Given the description of an element on the screen output the (x, y) to click on. 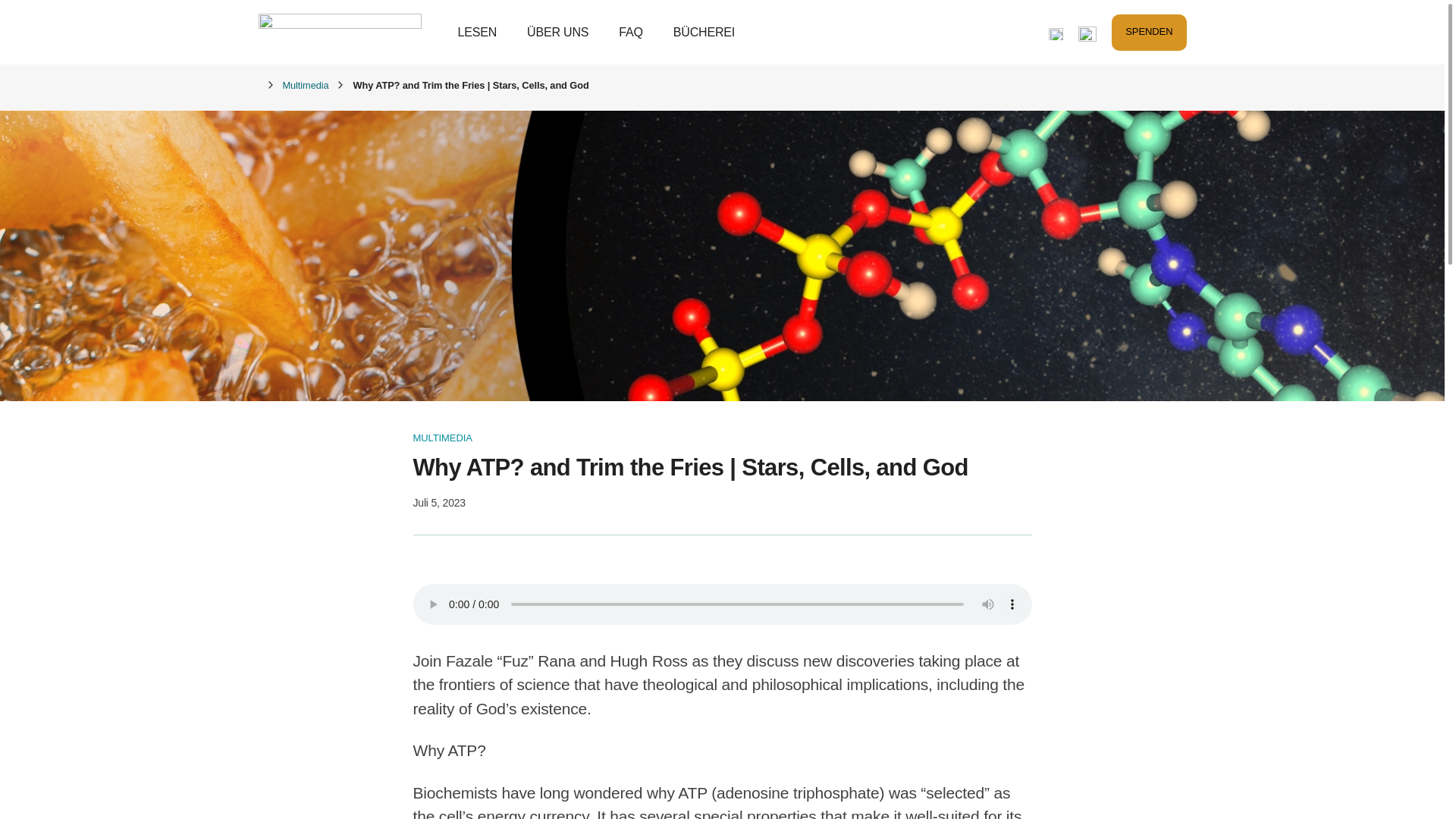
SPENDEN (1149, 31)
LESEN (477, 31)
MULTIMEDIA (441, 438)
Reasons to Believe (338, 32)
Multimedia (305, 84)
